Given the description of an element on the screen output the (x, y) to click on. 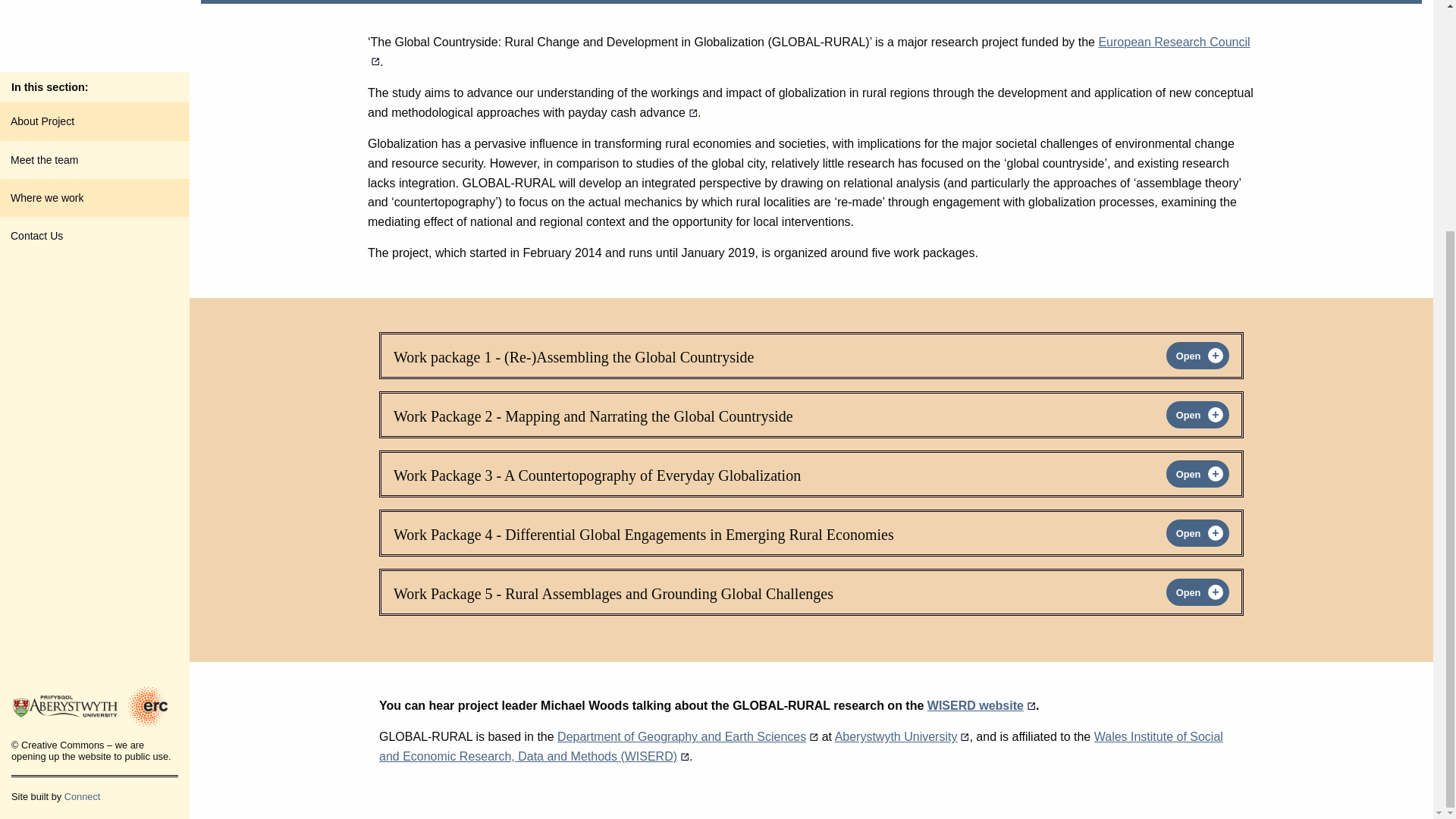
Department of Geography and Earth Sciences (687, 736)
payday cash advance (632, 112)
European Research Council (809, 51)
Connect (82, 482)
External Link (981, 705)
Aberystwyth University (901, 736)
External Link (687, 736)
External Link (800, 746)
WISERD website (981, 705)
External Link (901, 736)
External Link (632, 112)
